Given the description of an element on the screen output the (x, y) to click on. 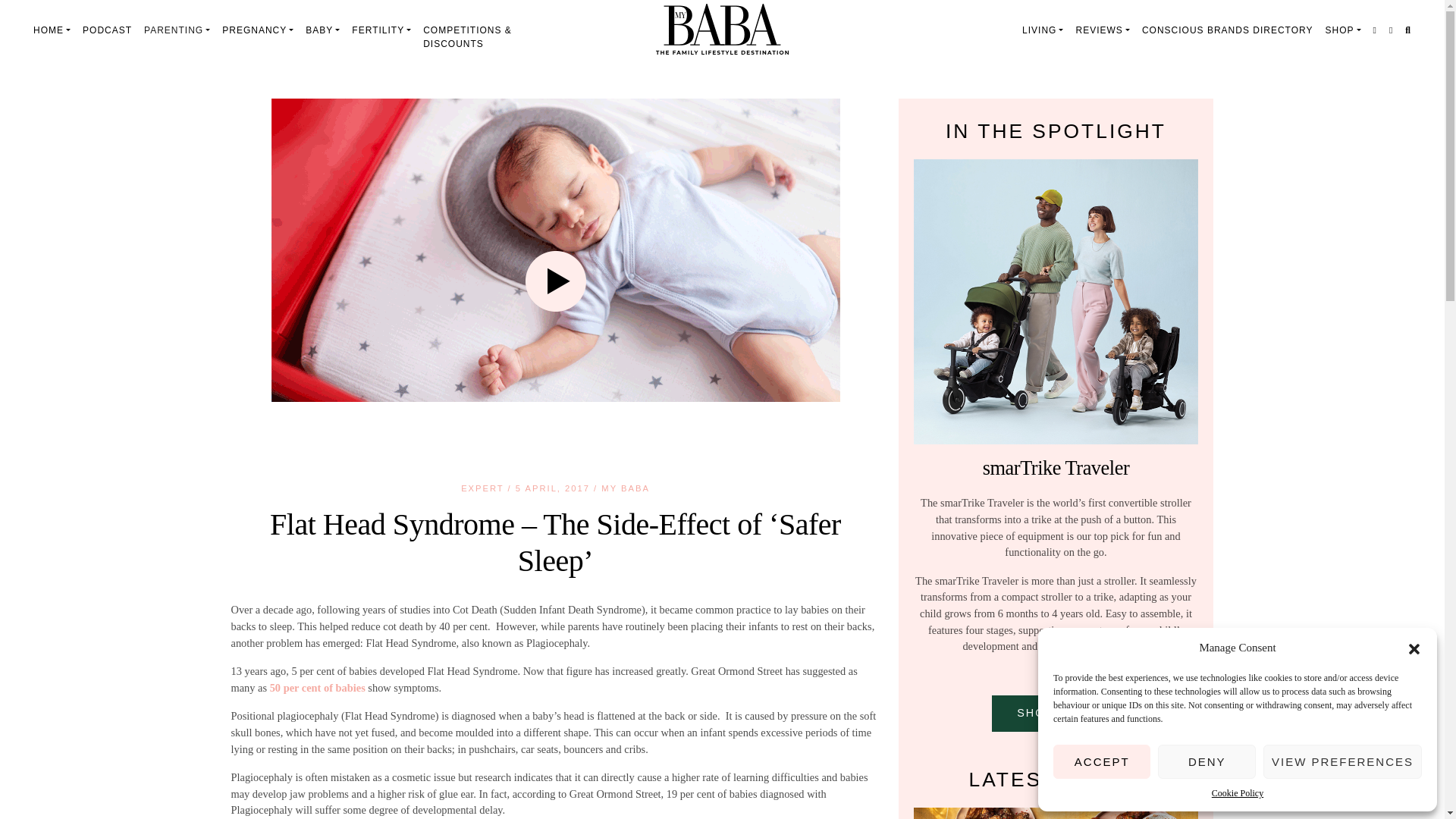
ACCEPT (1101, 761)
PARENTING (176, 30)
BABY (322, 30)
PREGNANCY (257, 30)
VIEW PREFERENCES (1342, 761)
DENY (1206, 761)
Cookie Policy (1237, 793)
HOME (52, 30)
PODCAST (107, 30)
